Given the description of an element on the screen output the (x, y) to click on. 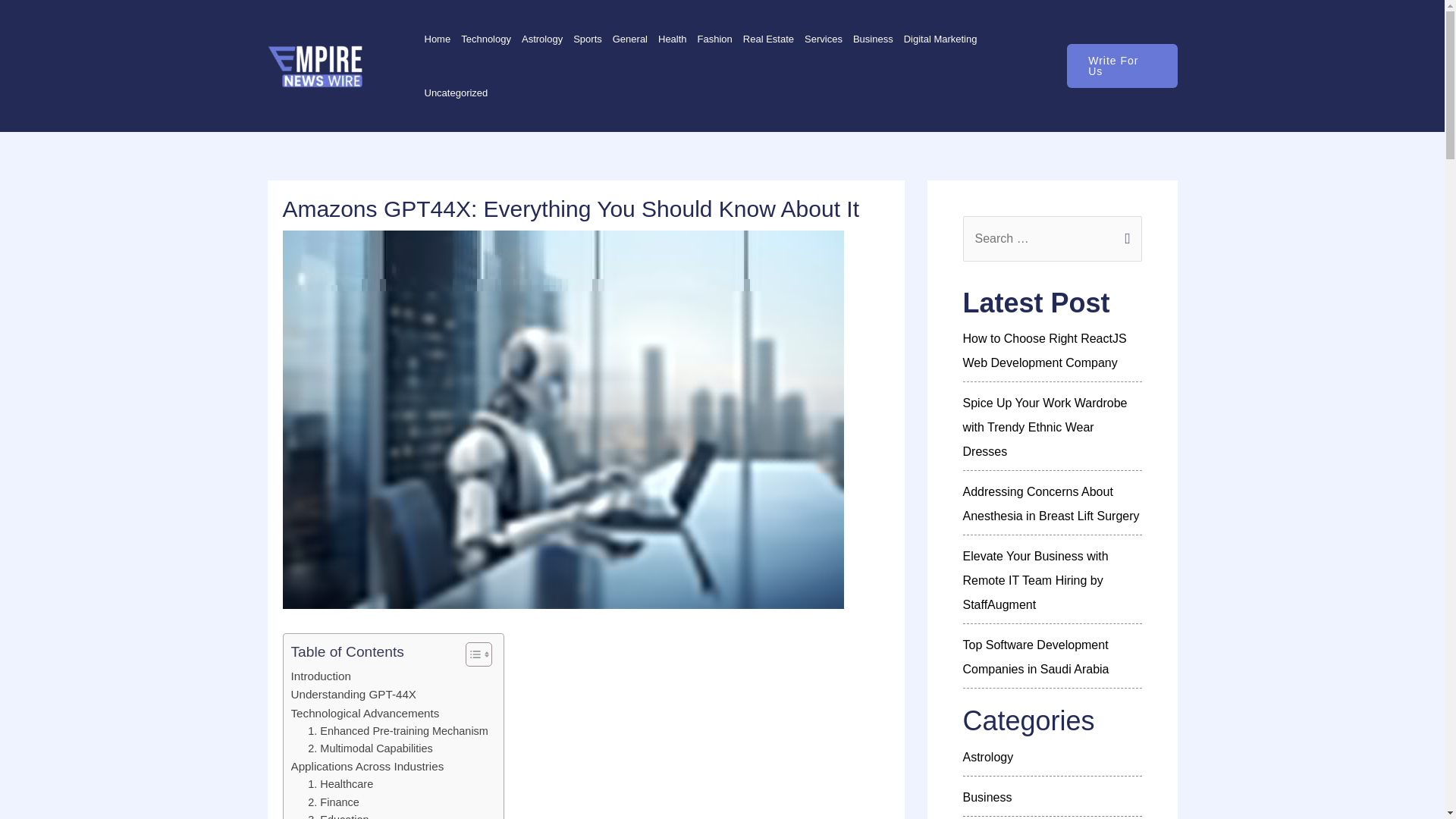
3. Education (337, 815)
Search (1123, 232)
1. Enhanced Pre-training Mechanism (397, 731)
General (629, 39)
Search (1123, 232)
Introduction (320, 676)
Real Estate (768, 39)
Astrology (541, 39)
Applications Across Industries (367, 766)
Sports (587, 39)
Technological Advancements (365, 713)
2. Finance (332, 802)
Fashion (715, 39)
Health (672, 39)
Home (437, 39)
